Given the description of an element on the screen output the (x, y) to click on. 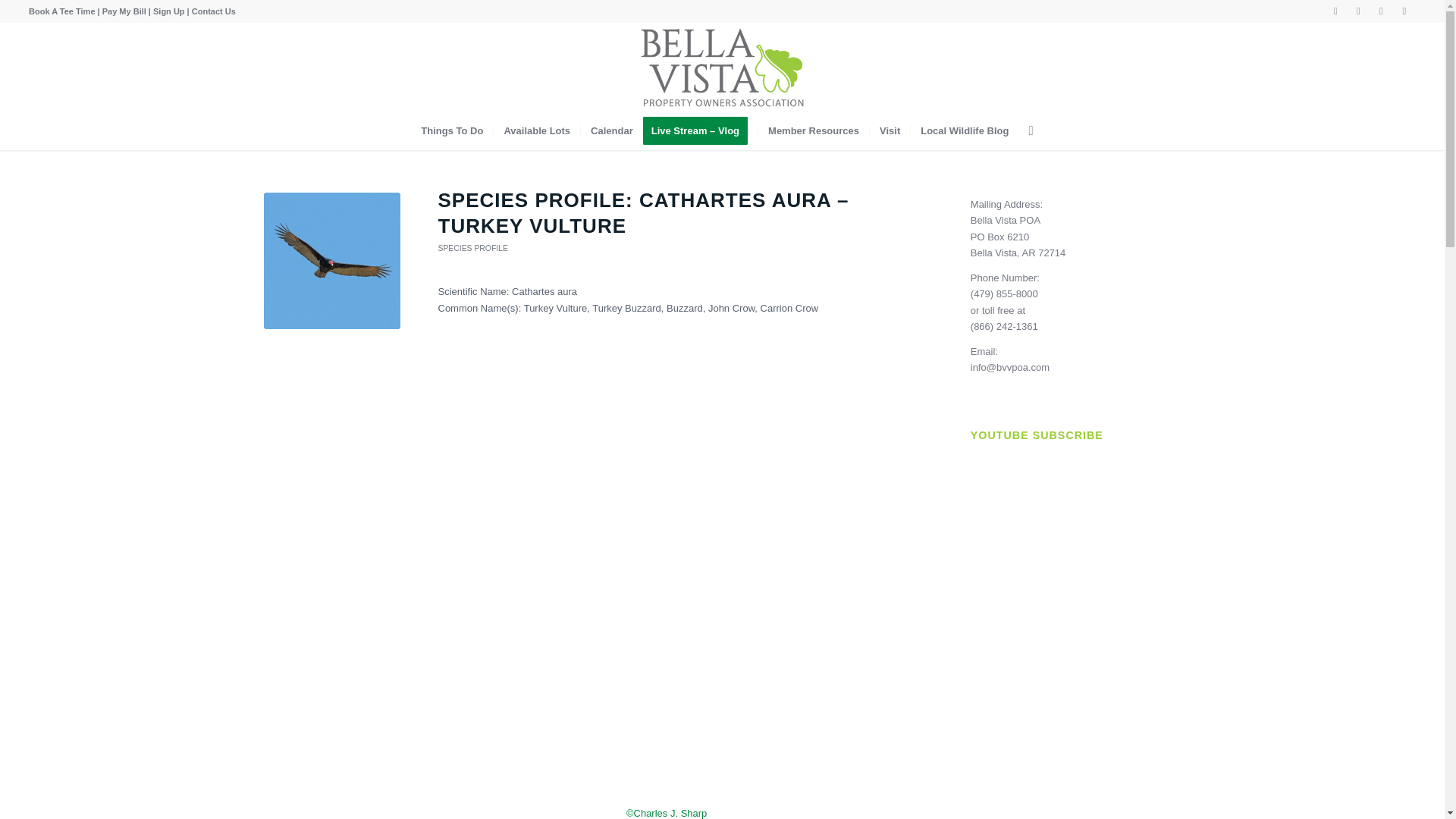
Calendar (611, 130)
Book A Tee Time (61, 10)
Contact Us (213, 10)
Mail (1404, 11)
Youtube (1380, 11)
SPECIES PROFILE (473, 248)
Local Wildlife Blog (963, 130)
Facebook (1335, 11)
Instagram (1359, 11)
BVPOA (721, 67)
